Given the description of an element on the screen output the (x, y) to click on. 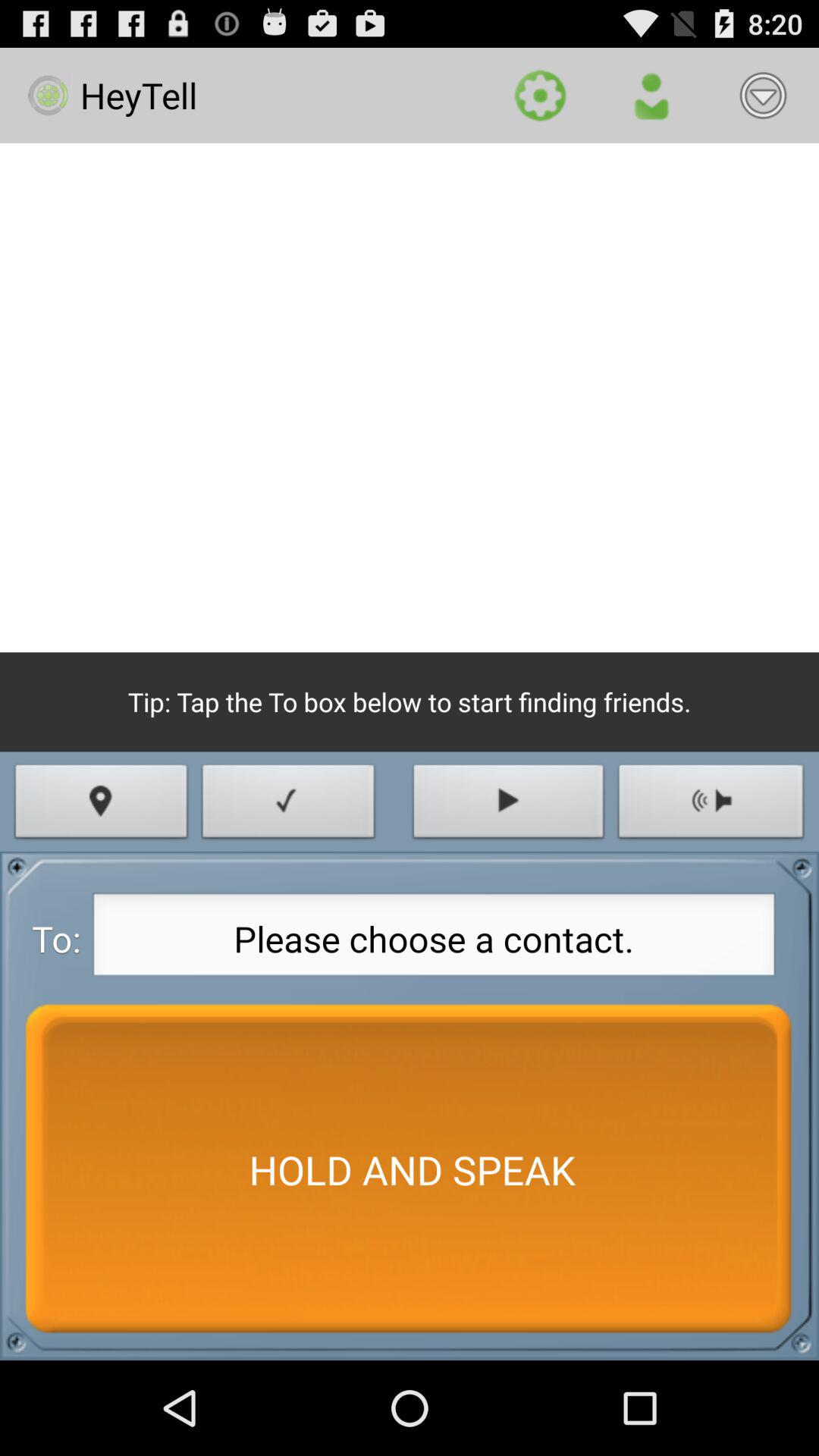
open the item at the bottom (409, 1169)
